Given the description of an element on the screen output the (x, y) to click on. 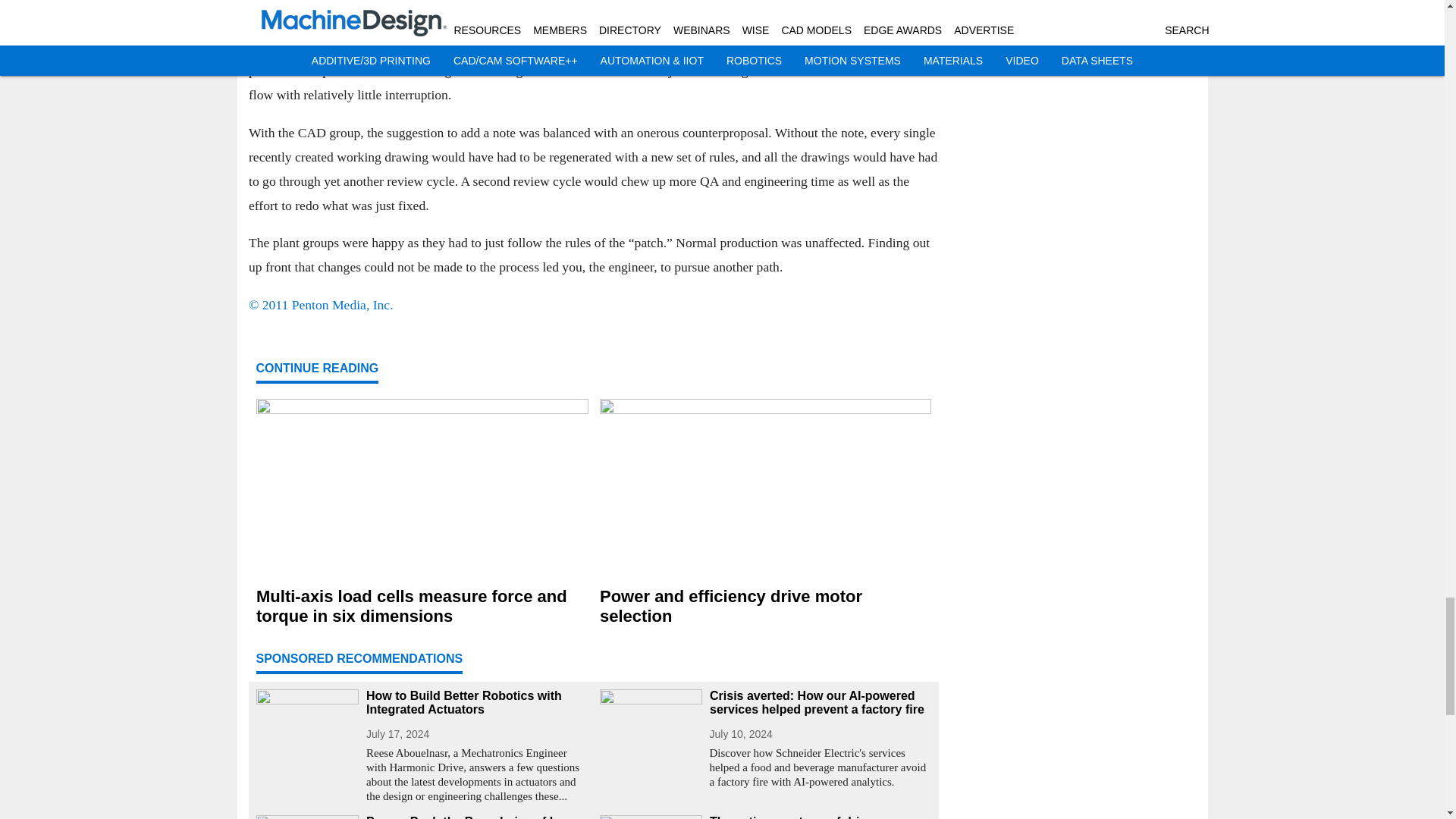
Power and efficiency drive motor selection (764, 606)
The entire spectrum of drive technology (820, 816)
Pumps Push the Boundaries of Low Temperature Technology (476, 816)
How to Build Better Robotics with Integrated Actuators (476, 702)
